Given the description of an element on the screen output the (x, y) to click on. 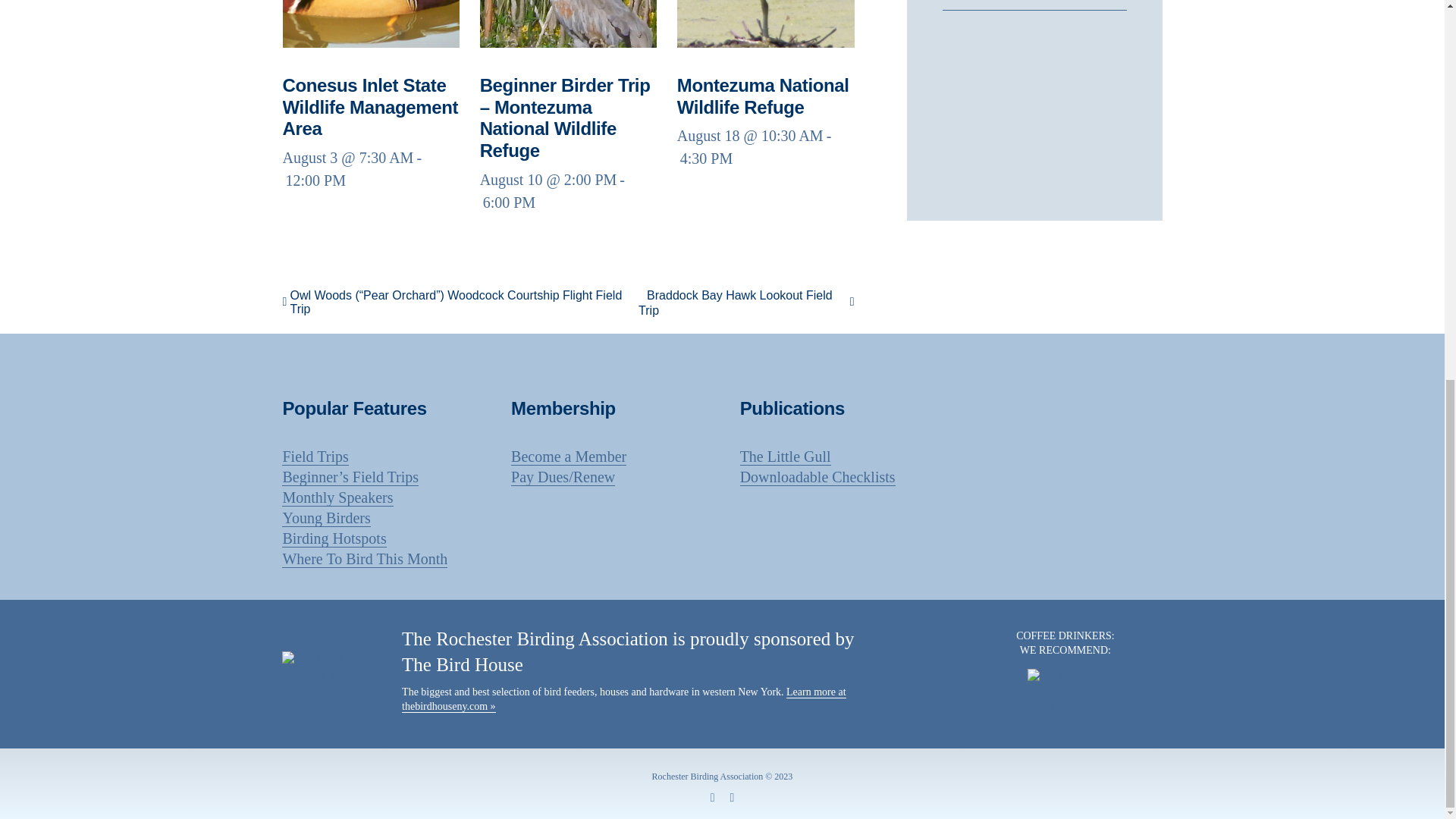
Click to view a Google Map (1034, 1)
birdfriendlycoffeelogo (1065, 691)
birdhouse-logo-150 (330, 666)
